Given the description of an element on the screen output the (x, y) to click on. 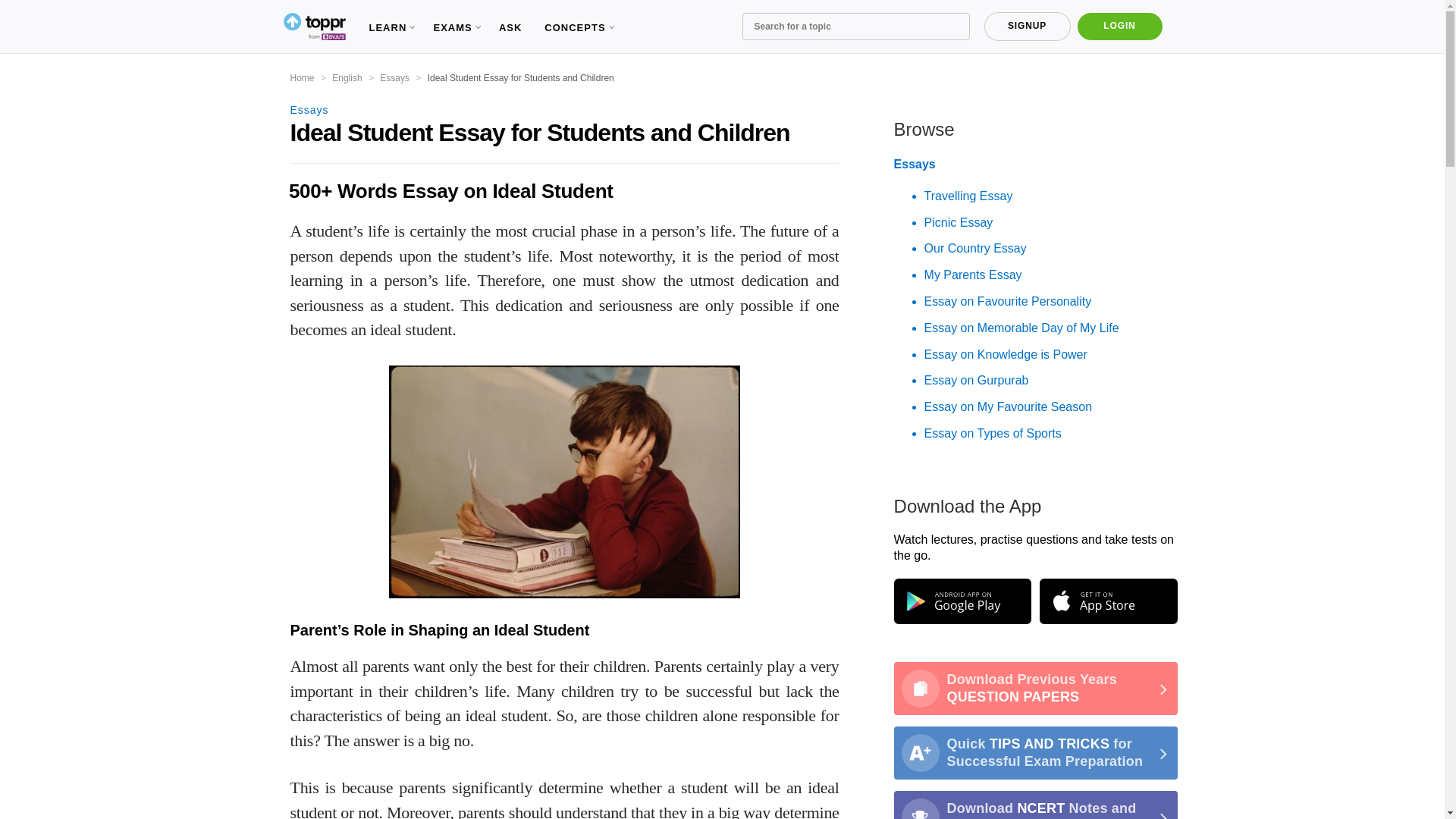
Go to the English (346, 77)
Go to the Home (301, 77)
Toppr (314, 26)
Toppr Android App on Google Play (961, 601)
Go to the Essays (394, 77)
LEARN (389, 27)
Search for a topic (855, 26)
Toppr iOS App on App Store (1107, 601)
